Given the description of an element on the screen output the (x, y) to click on. 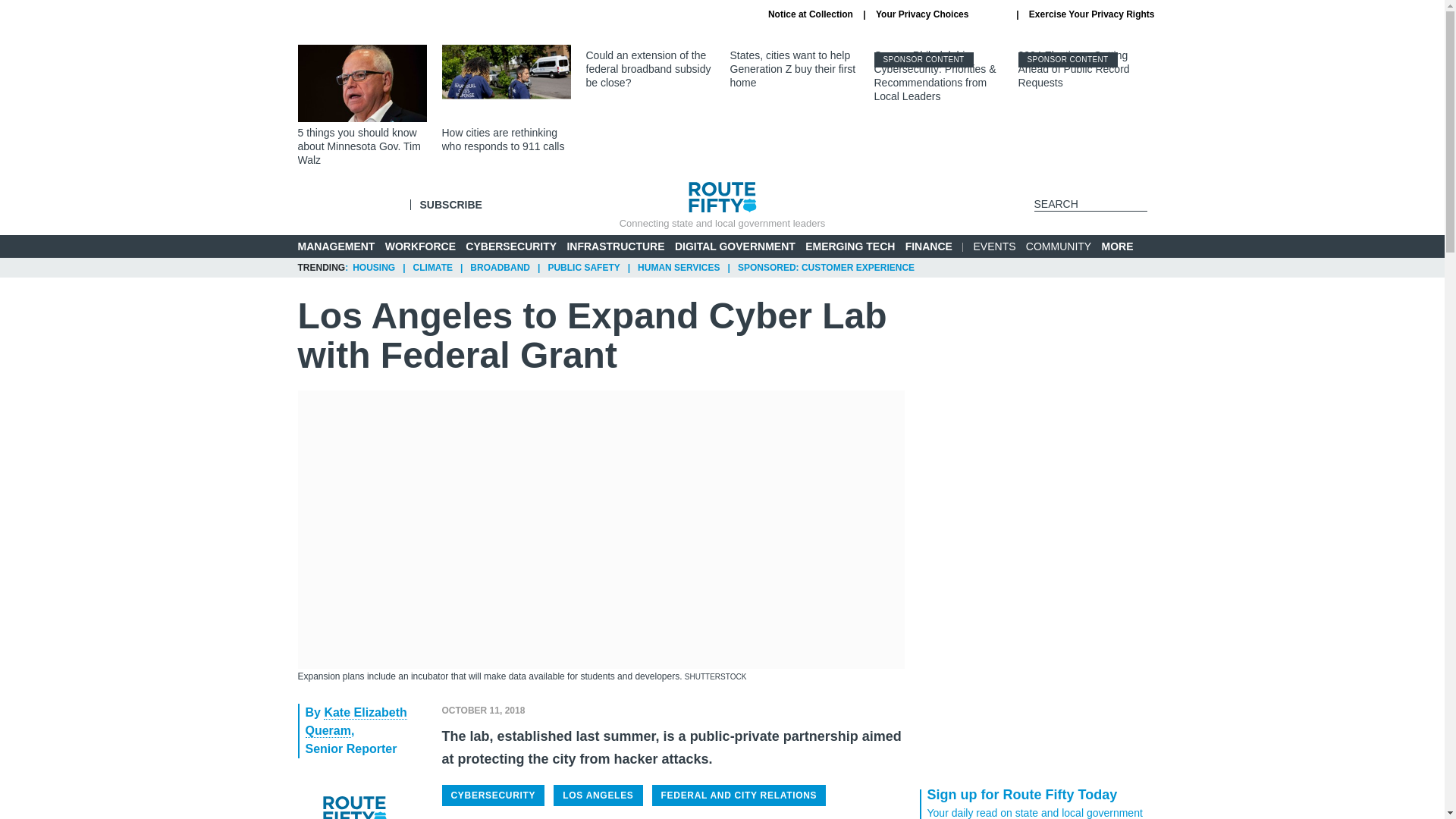
DIGITAL GOVERNMENT (734, 246)
WORKFORCE (420, 246)
Exercise Your Privacy Rights (1091, 14)
5 things you should know about Minnesota Gov. Tim Walz (361, 106)
EMERGING TECH (850, 246)
MORE (1123, 246)
Notice at Collection (810, 14)
MANAGEMENT (335, 246)
COMMUNITY (1058, 246)
